Given the description of an element on the screen output the (x, y) to click on. 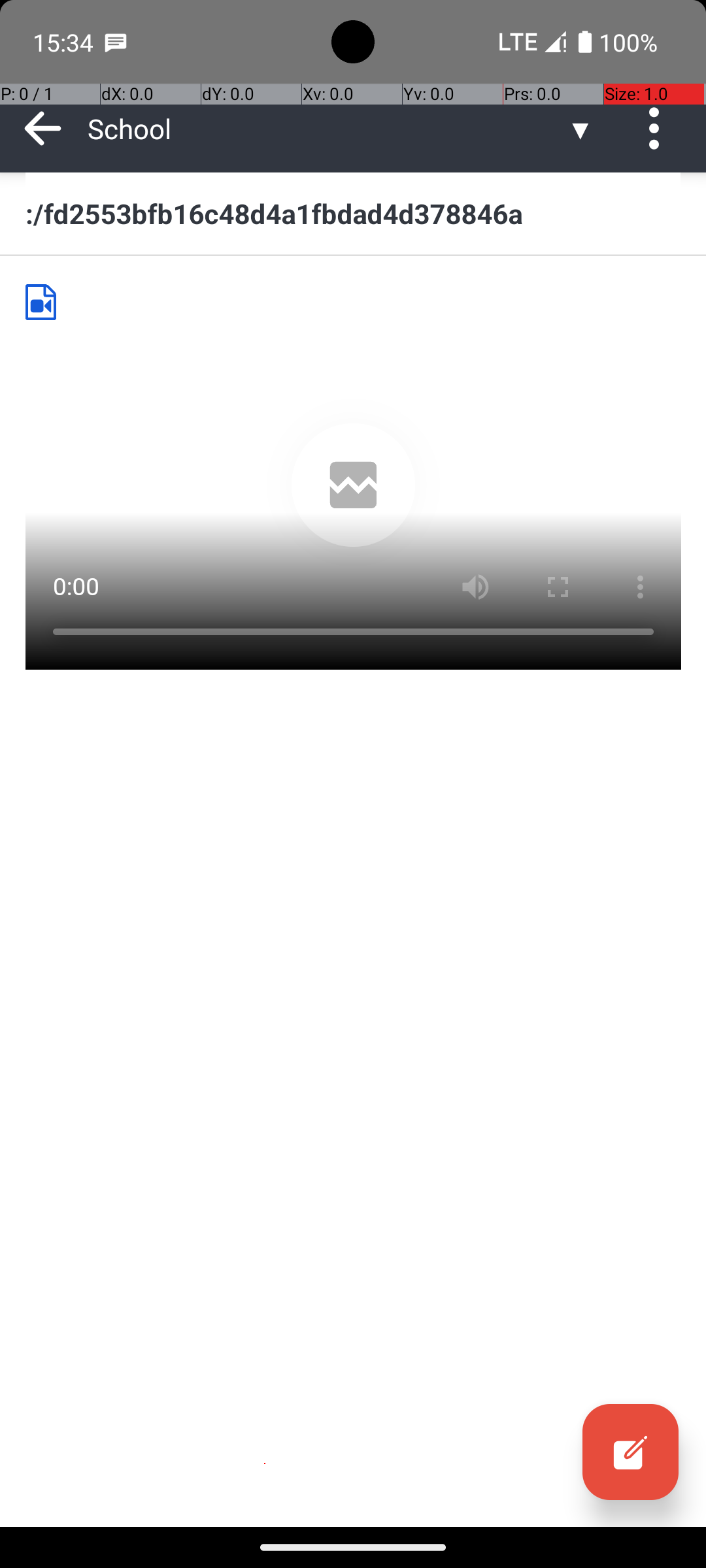
:/fd2553bfb16c48d4a1fbdad4d378846a Element type: android.widget.EditText (352, 213)
NoteBodyViewer Element type: android.view.View (45, 301)
play Element type: android.widget.Button (353, 484)
elapsed time: 0:00, video time scrubber Element type: android.widget.SeekBar (352, 648)
enter full screen Element type: android.widget.Button (557, 586)
mute Element type: android.widget.Button (474, 586)
